Given the description of an element on the screen output the (x, y) to click on. 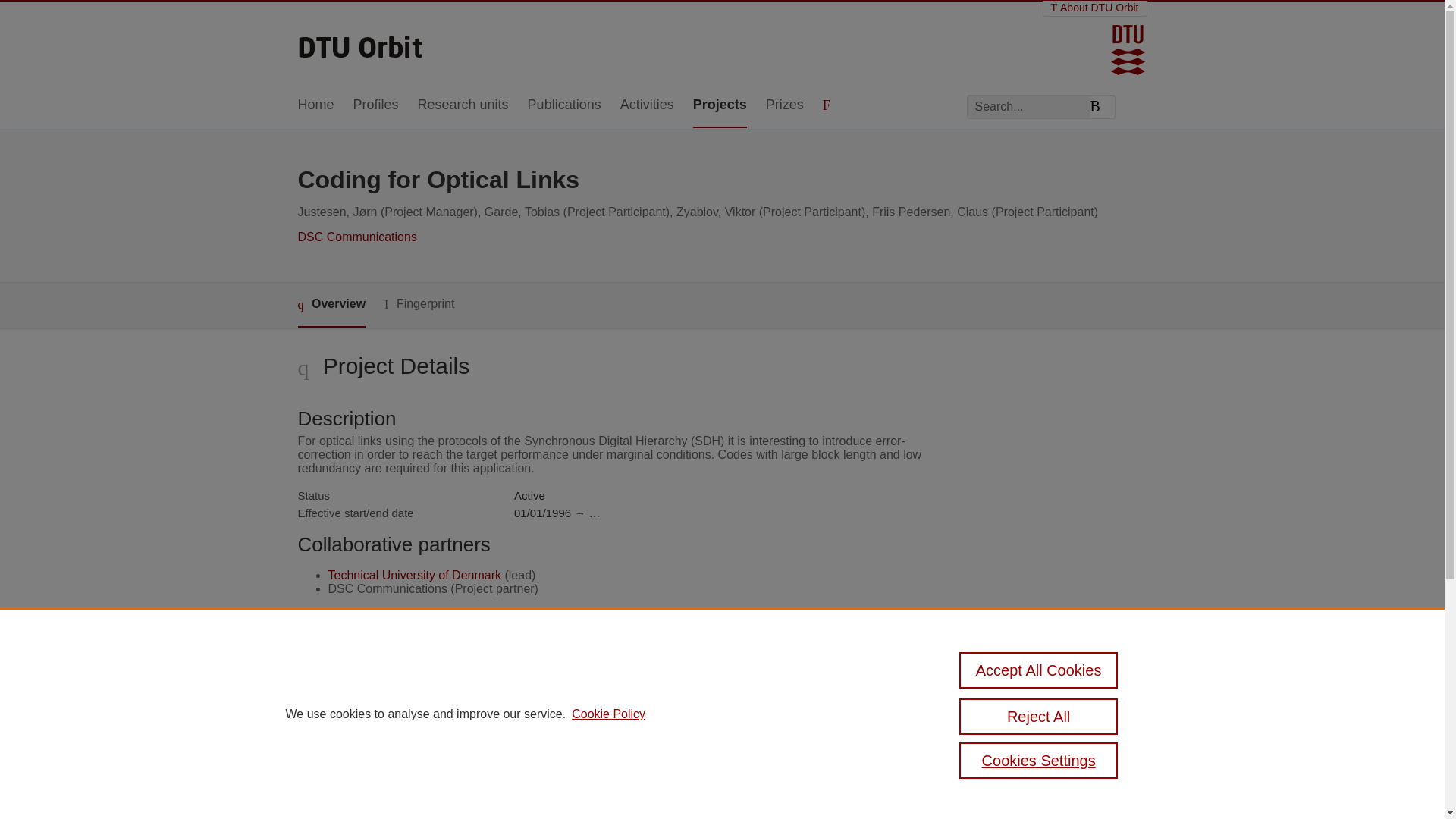
Activities (647, 105)
Welcome to DTU Research Database Home (361, 41)
Technical University of Denmark (413, 574)
Cookie Policy (608, 713)
DSC Communications (356, 236)
Research units (462, 105)
About DTU Orbit (1095, 7)
Overview (331, 304)
Profiles (375, 105)
